Given the description of an element on the screen output the (x, y) to click on. 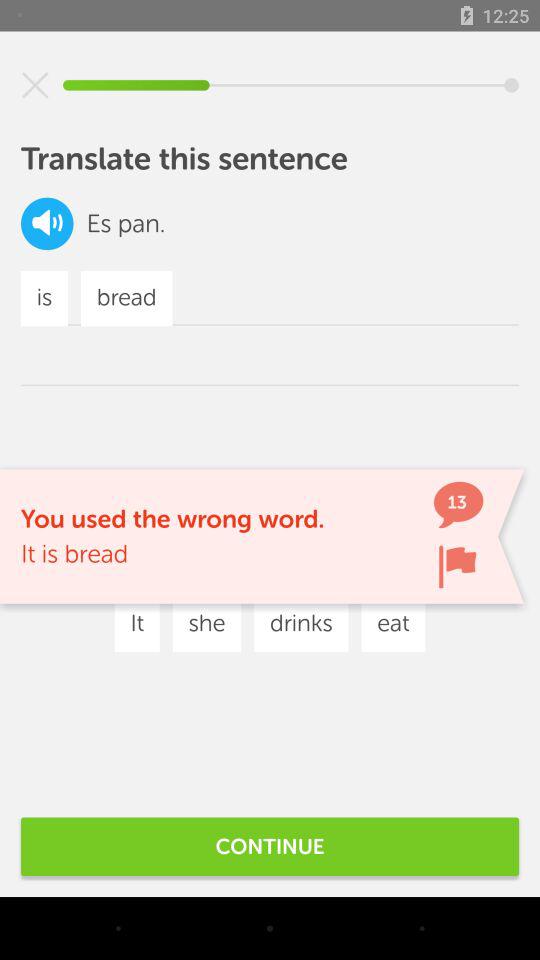
select the icon to the left of the es item (47, 223)
